Given the description of an element on the screen output the (x, y) to click on. 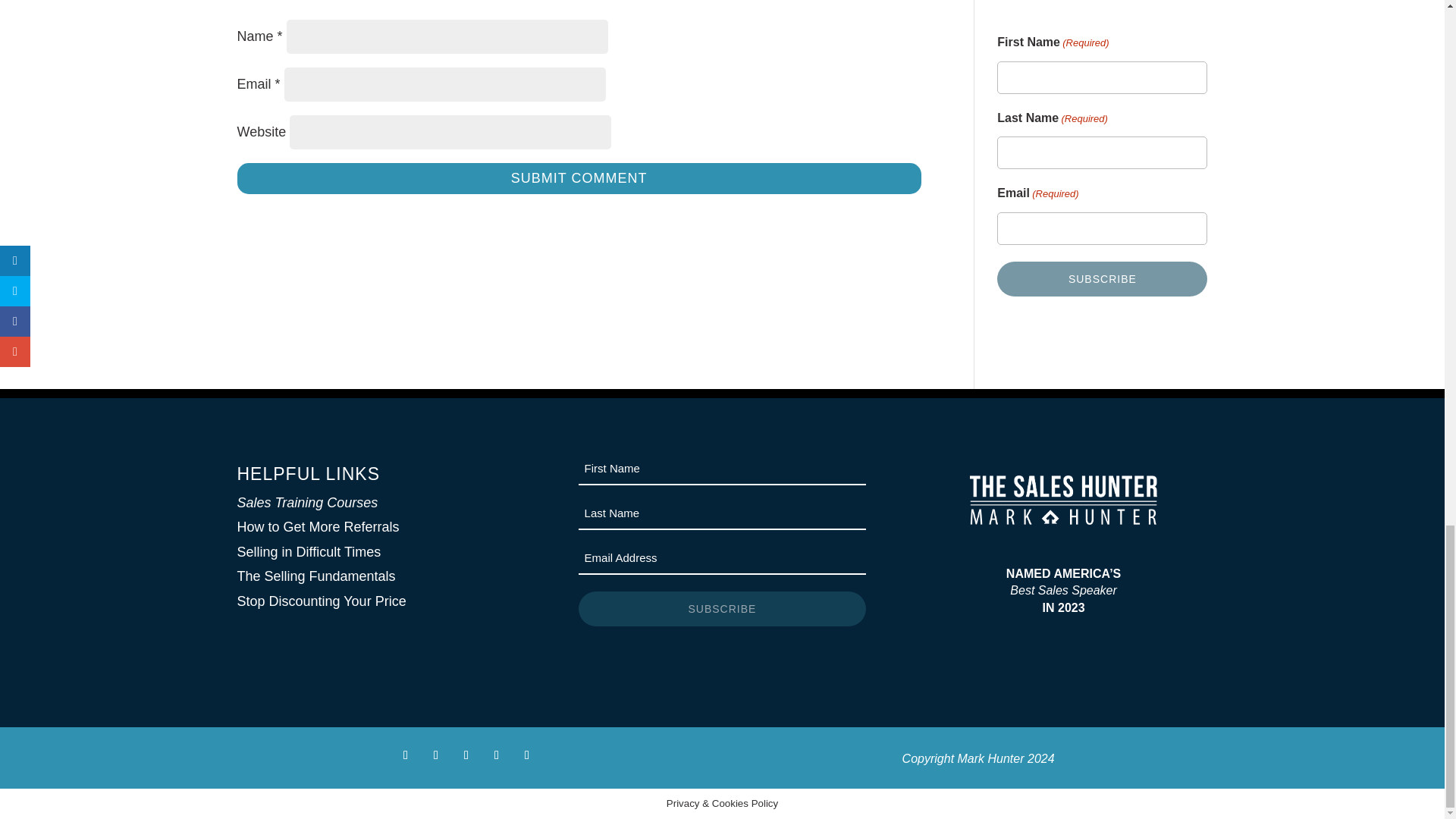
SUBSCRIBE (1102, 278)
Follow on X (435, 754)
SUBSCRIBE (722, 608)
Stop Discounting Your Price (320, 601)
How to Get More Referrals (316, 526)
Follow on Instagram (466, 754)
SUBSCRIBE (722, 608)
Submit Comment (577, 178)
Three Branch FigAsset 28 (1063, 499)
Submit Comment (577, 178)
